Given the description of an element on the screen output the (x, y) to click on. 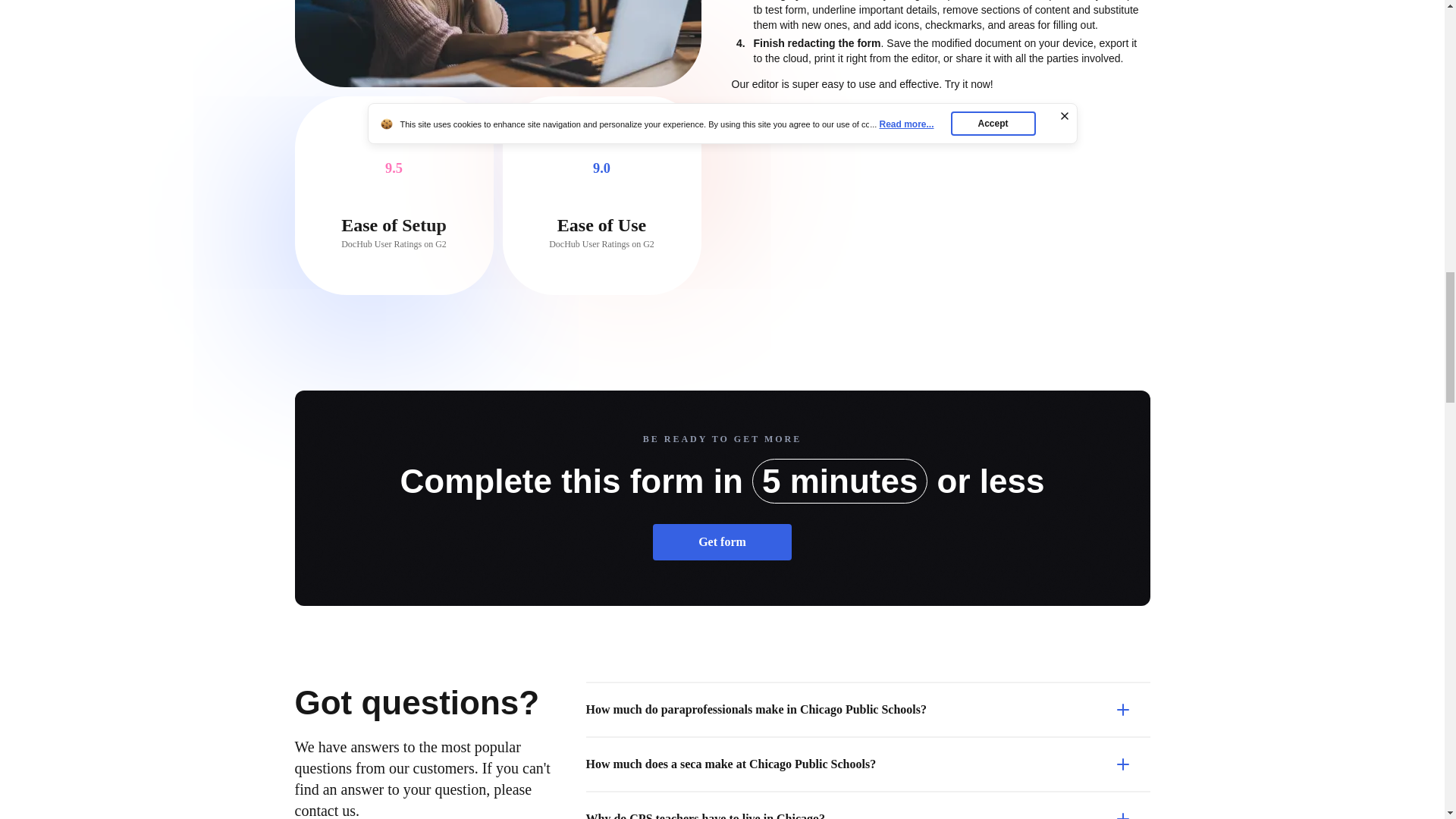
Get form (722, 541)
9.0 (601, 168)
9.5 (394, 168)
